Given the description of an element on the screen output the (x, y) to click on. 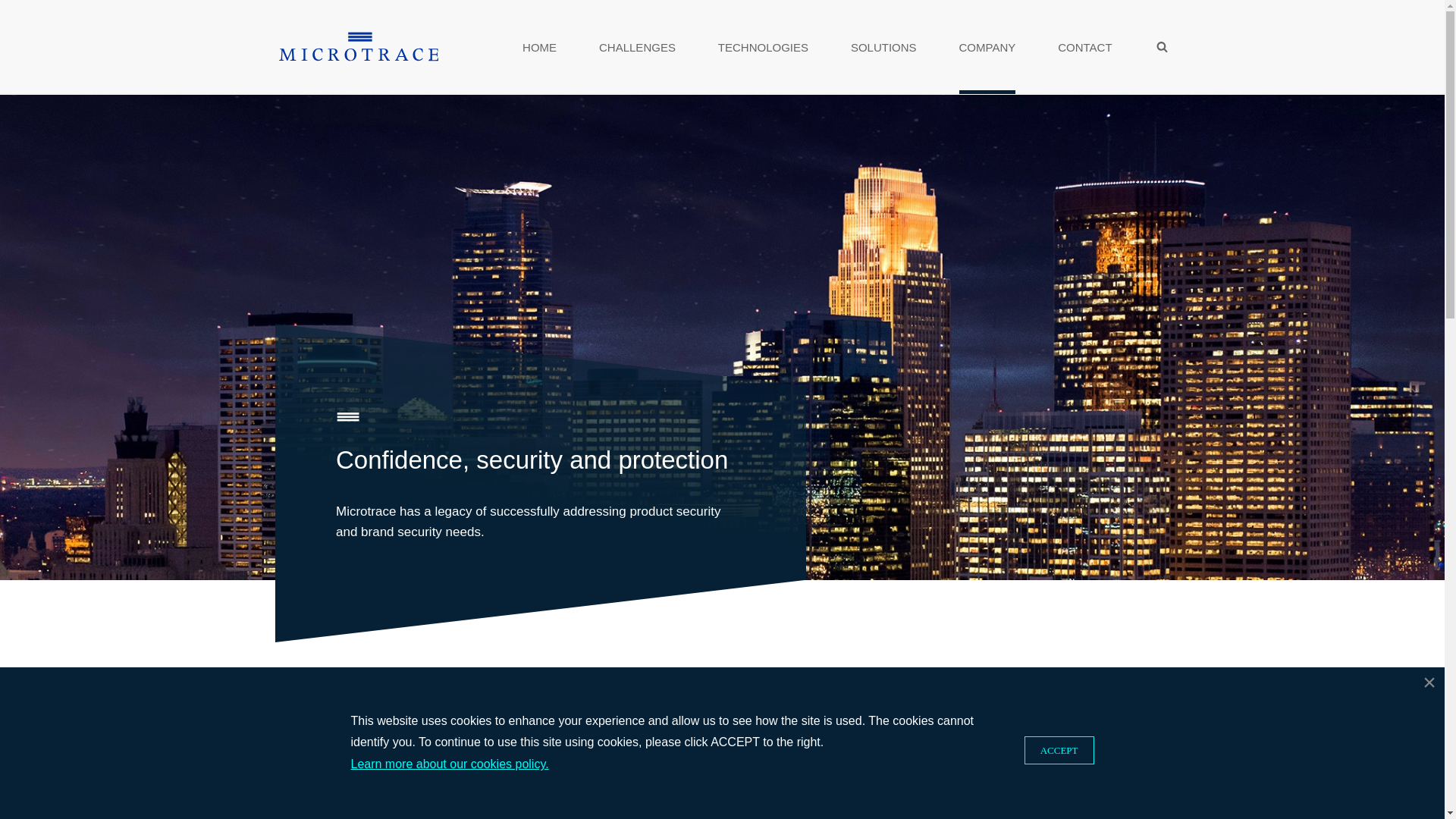
Microtrace Home (358, 46)
HOME (539, 47)
TECHNOLOGIES (762, 47)
CHALLENGES (636, 47)
SOLUTIONS (883, 47)
